Given the description of an element on the screen output the (x, y) to click on. 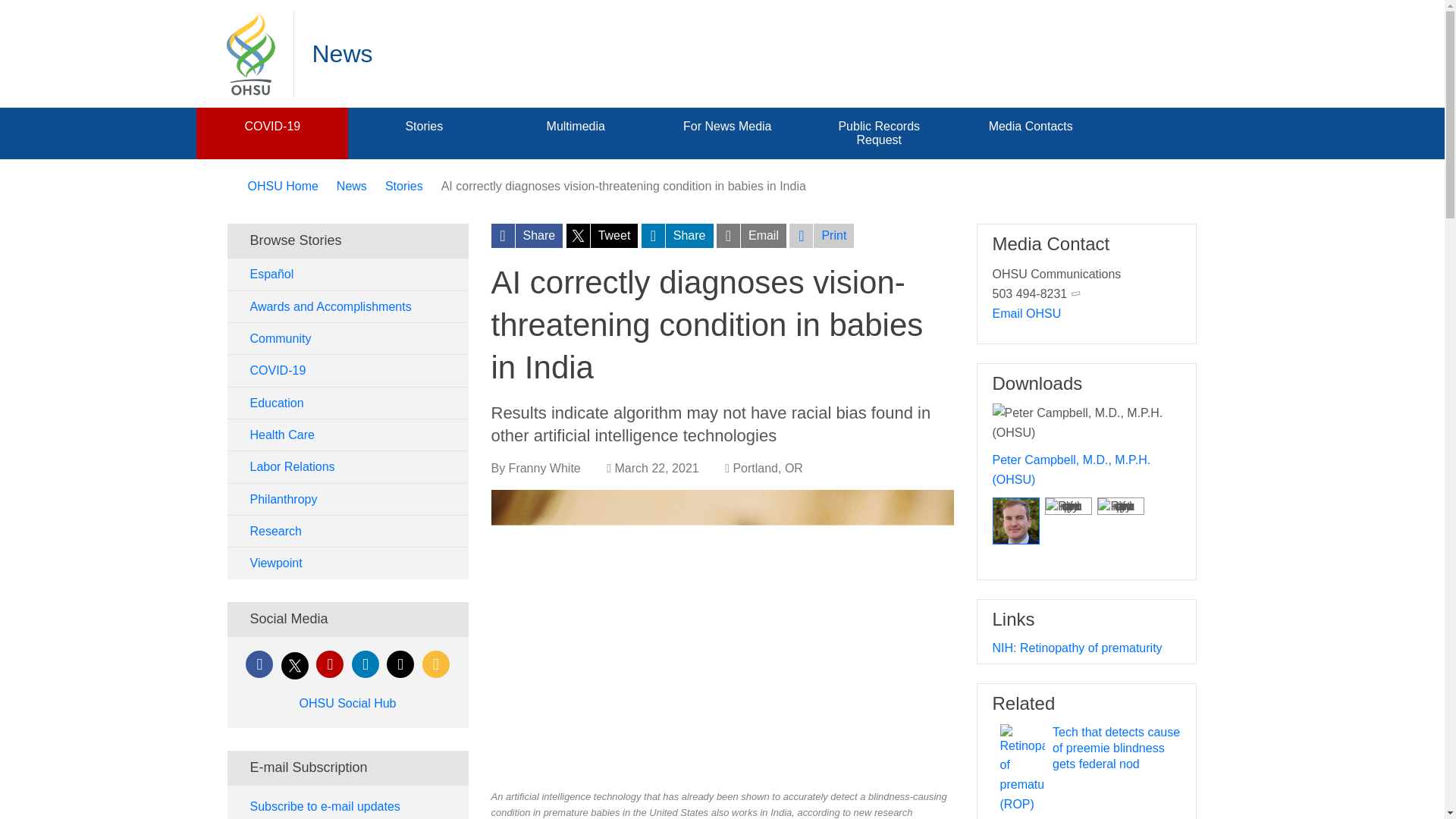
OHSU Home (282, 185)
For News Media (726, 126)
COVID-19 (271, 126)
Public Records Request (879, 132)
Stories (404, 185)
Facebook (259, 664)
News (351, 185)
Stories (423, 126)
Awards and Accomplishments (347, 306)
Media Contacts (1030, 126)
